Given the description of an element on the screen output the (x, y) to click on. 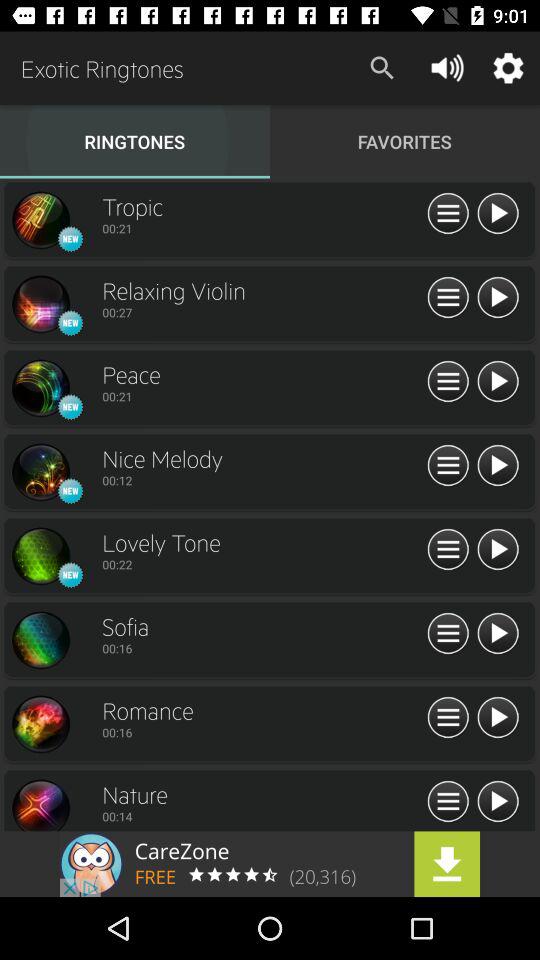
play tropic (497, 213)
